Given the description of an element on the screen output the (x, y) to click on. 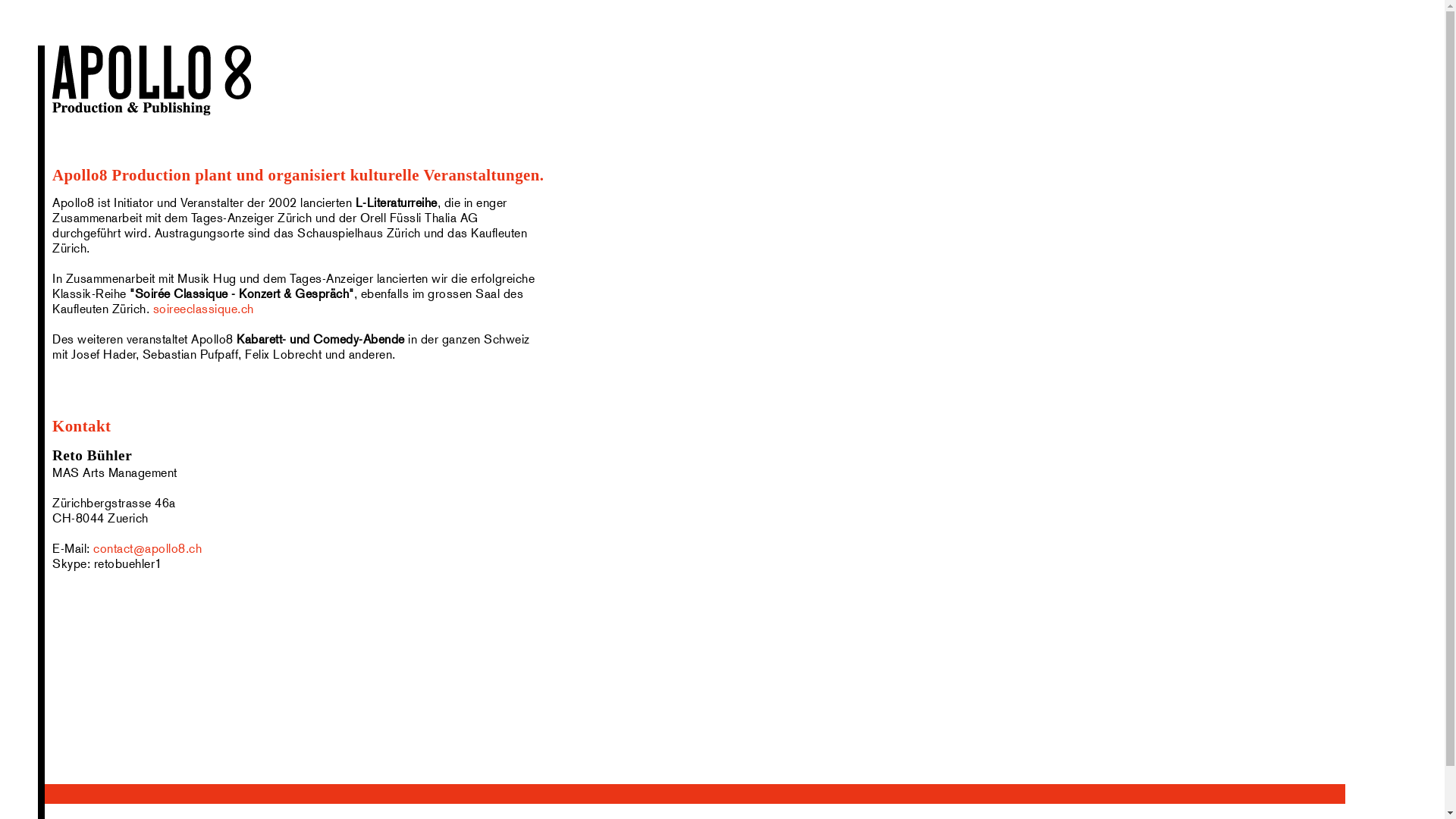
contact@apollo8.ch Element type: text (145, 548)
soireeclassique.ch Element type: text (203, 308)
